Given the description of an element on the screen output the (x, y) to click on. 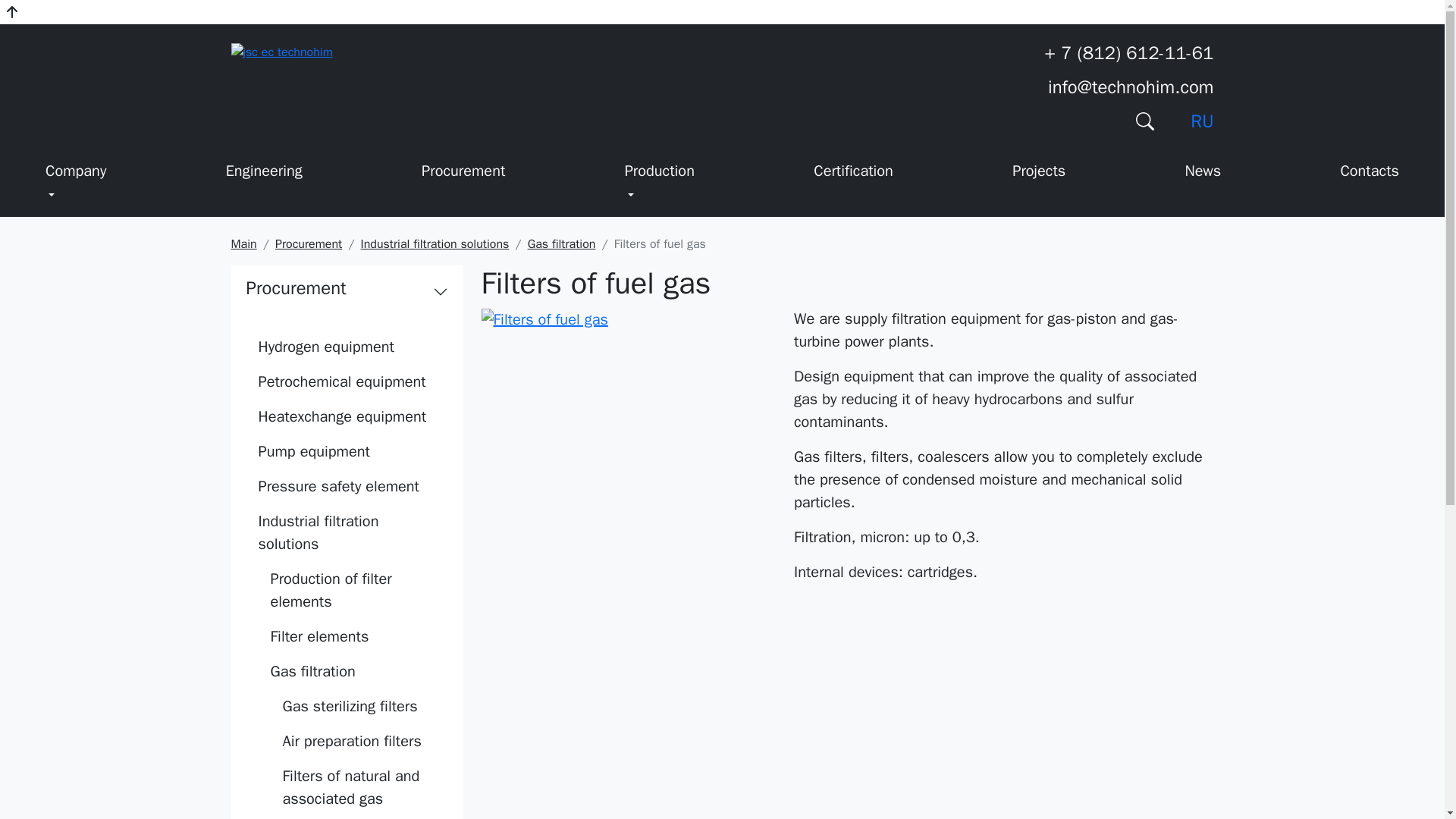
Industrial filtration solutions (435, 243)
Gas filtration (561, 243)
Air preparation filters (357, 741)
Pressure safety element (346, 486)
Industrial filtration solutions (435, 243)
Heatexchange equipment (346, 416)
Company (75, 183)
Projects (1038, 174)
Filters of fuel gas (543, 319)
Engineering (264, 174)
Procurement (296, 287)
Gas filtration (561, 243)
Procurement (308, 243)
Procurement (463, 174)
Pump equipment (346, 451)
